Given the description of an element on the screen output the (x, y) to click on. 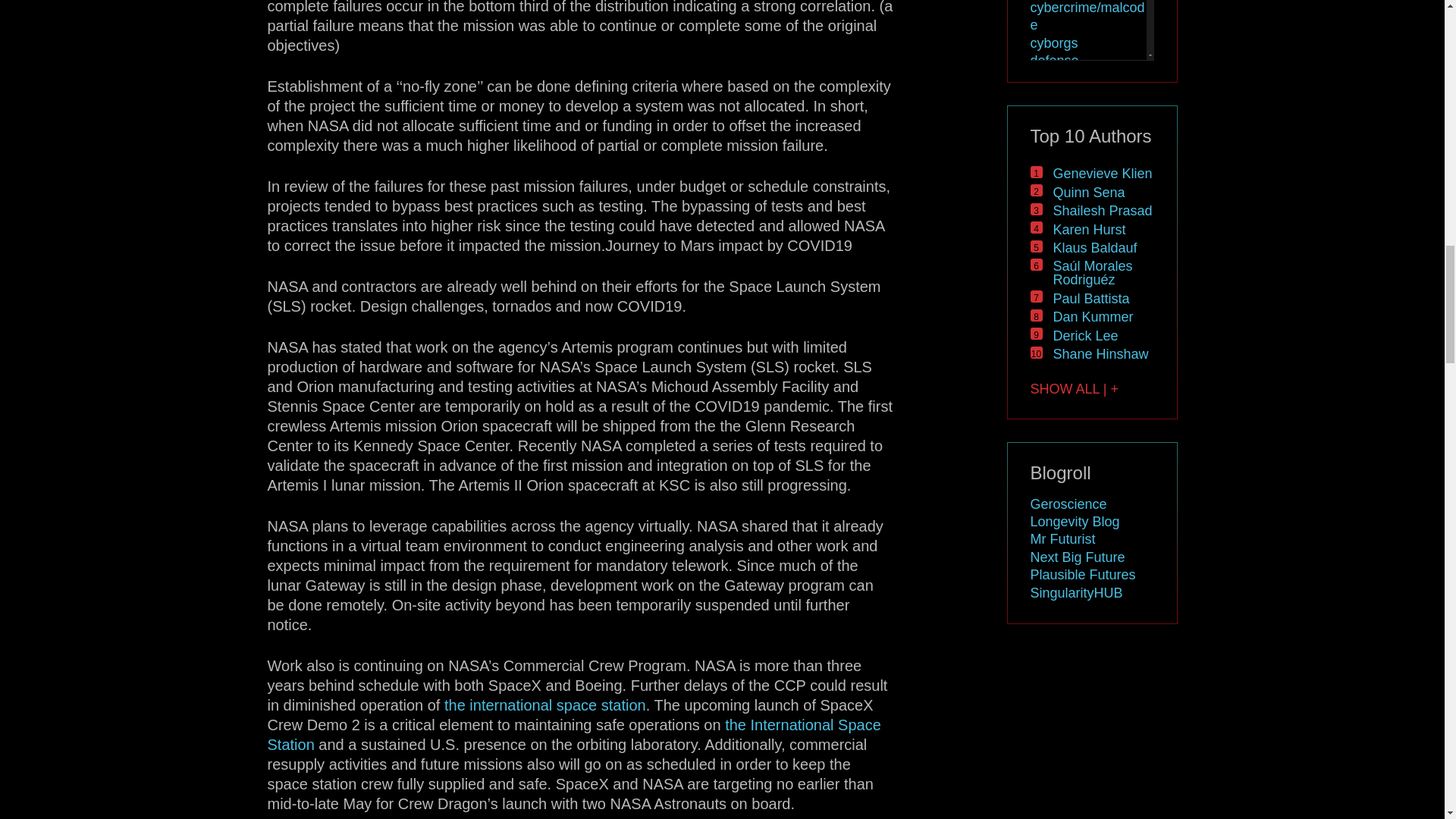
1200 posts by Shane Hinshaw (1100, 353)
1654 posts by Dan Kummer (1092, 316)
9057 posts by Quinn Sena (1088, 192)
2590 posts by Klaus Baldauf (1094, 247)
11714 posts by Genevieve Klien (1101, 173)
2091 posts by Paul Battista (1090, 298)
5197 posts by Shailesh Prasad (1101, 210)
1371 posts by Derick Lee (1085, 335)
4292 posts by Karen Hurst (1088, 229)
